Given the description of an element on the screen output the (x, y) to click on. 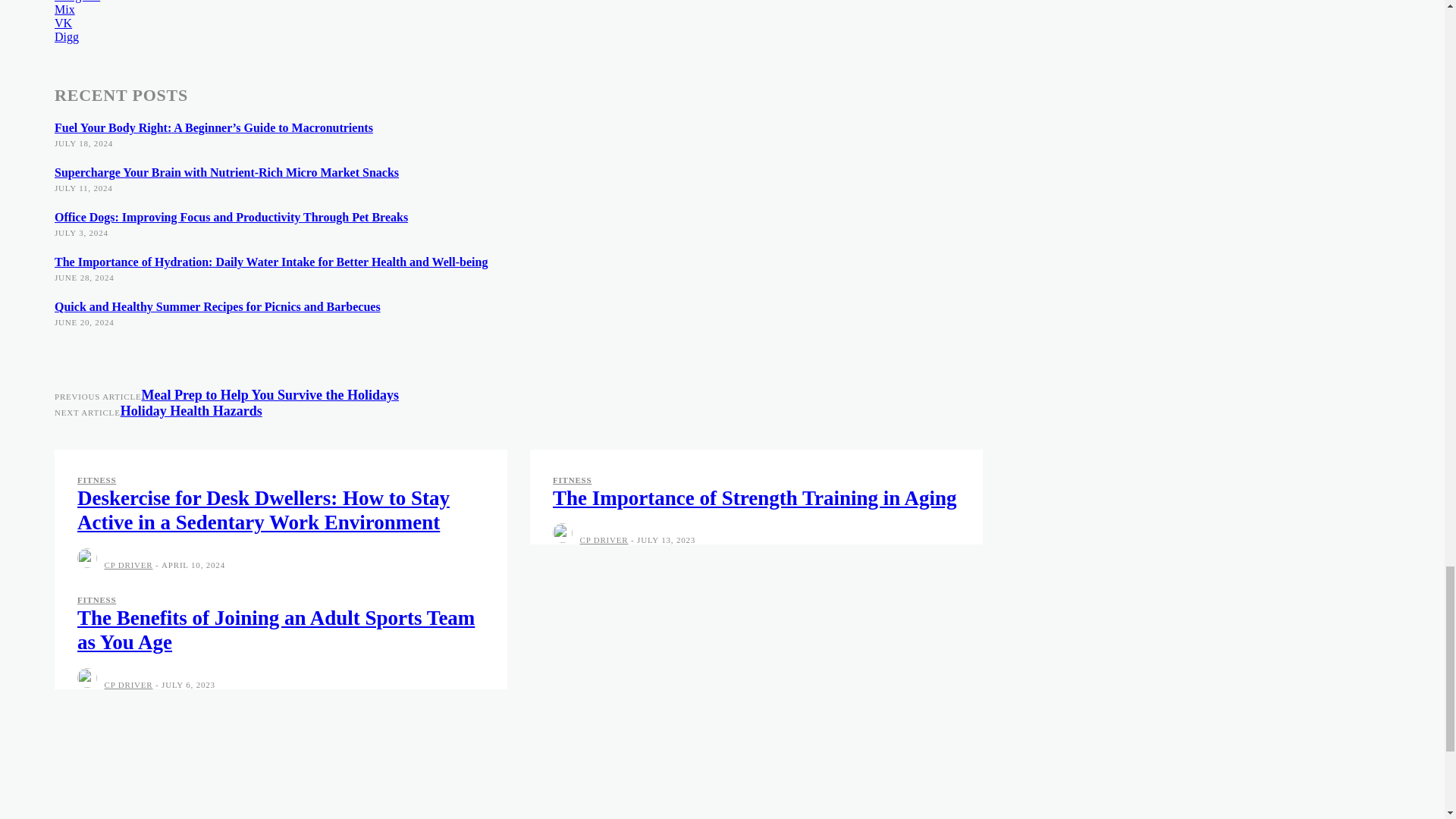
The Benefits of Joining an Adult Sports Team as You Age (275, 629)
Quick and Healthy Summer Recipes for Picnics and Barbecues (217, 306)
The Importance of Strength Training in Aging (754, 497)
